Given the description of an element on the screen output the (x, y) to click on. 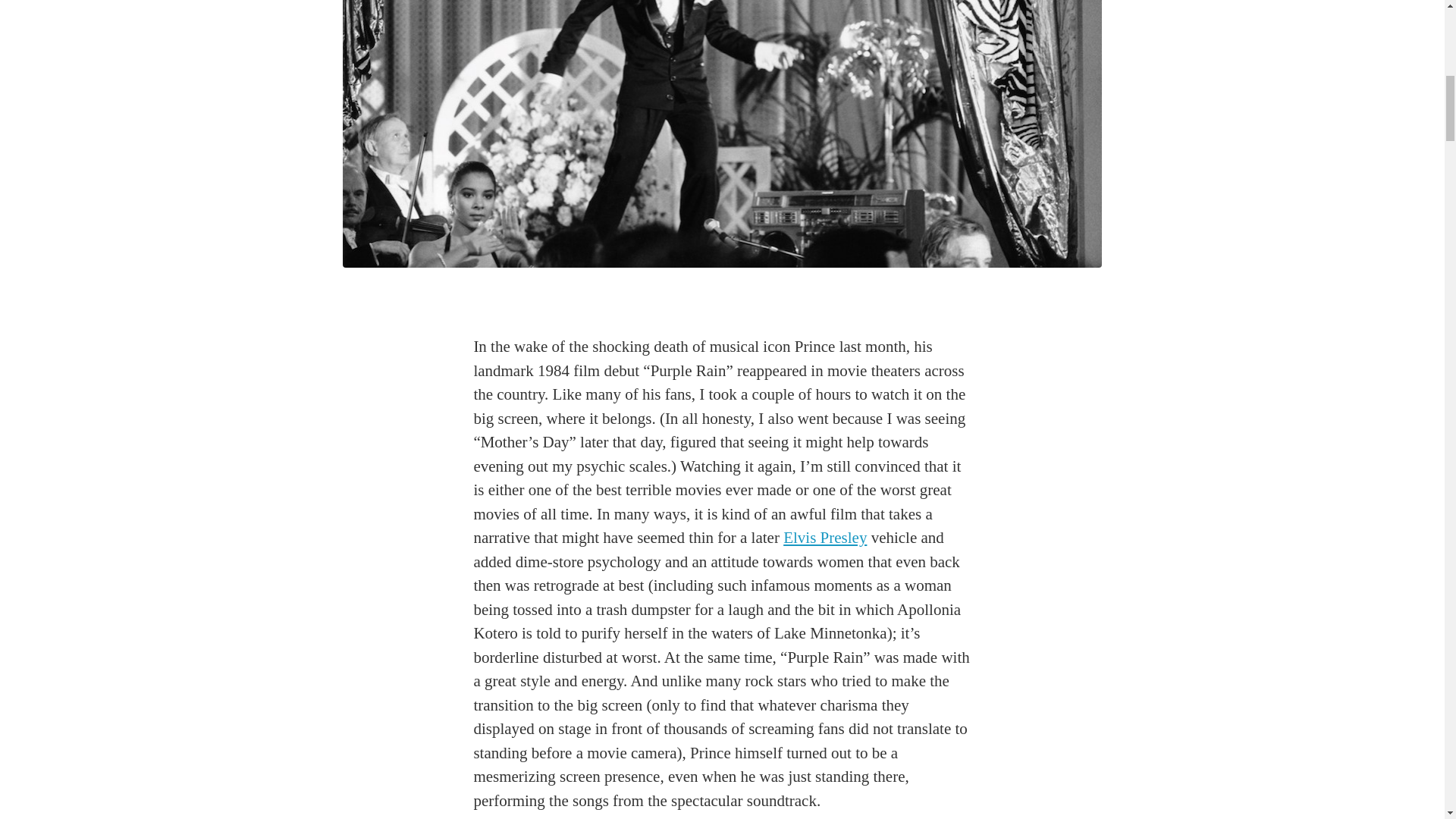
Elvis Presley (824, 537)
